Given the description of an element on the screen output the (x, y) to click on. 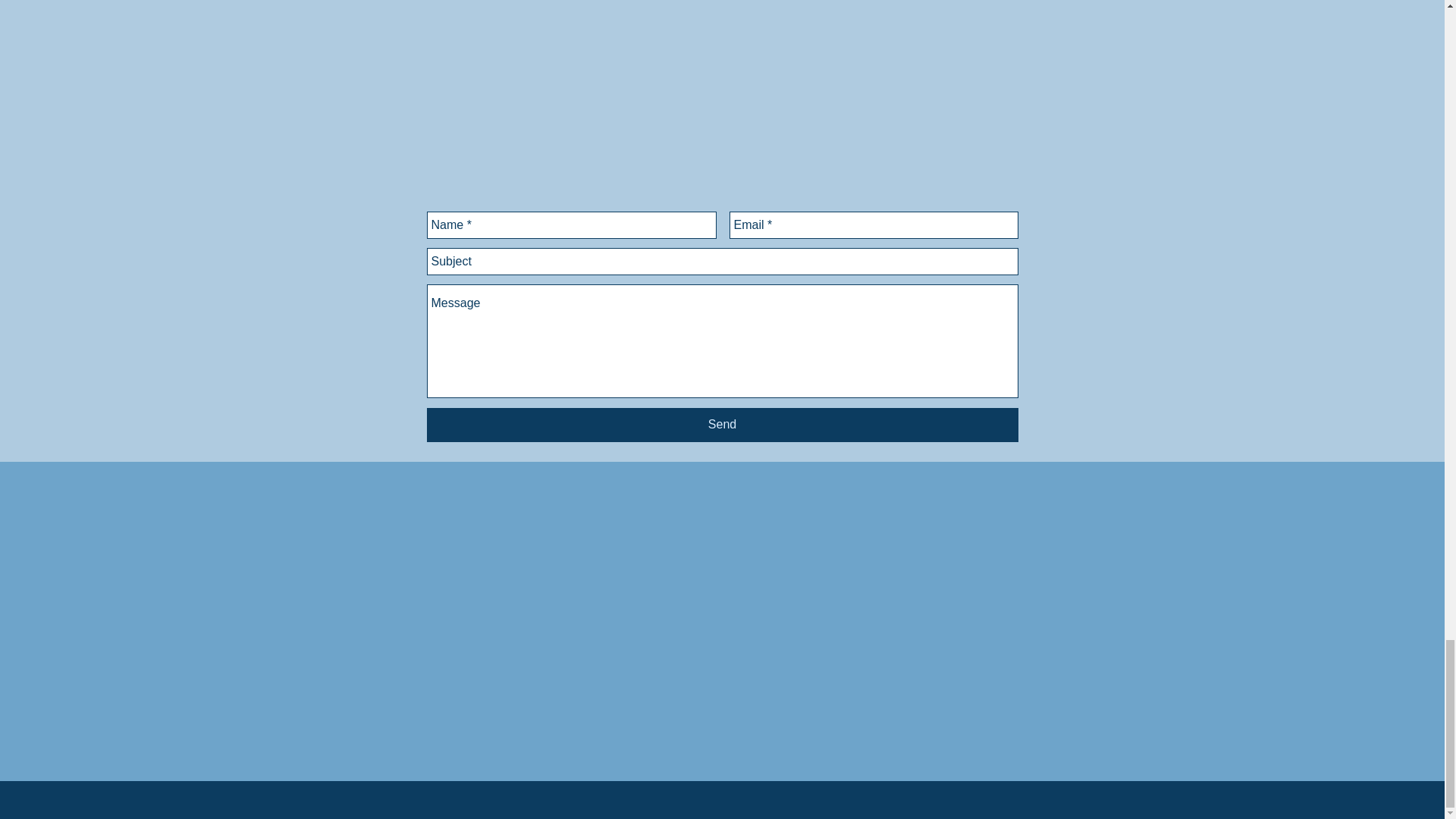
Send (721, 424)
